Given the description of an element on the screen output the (x, y) to click on. 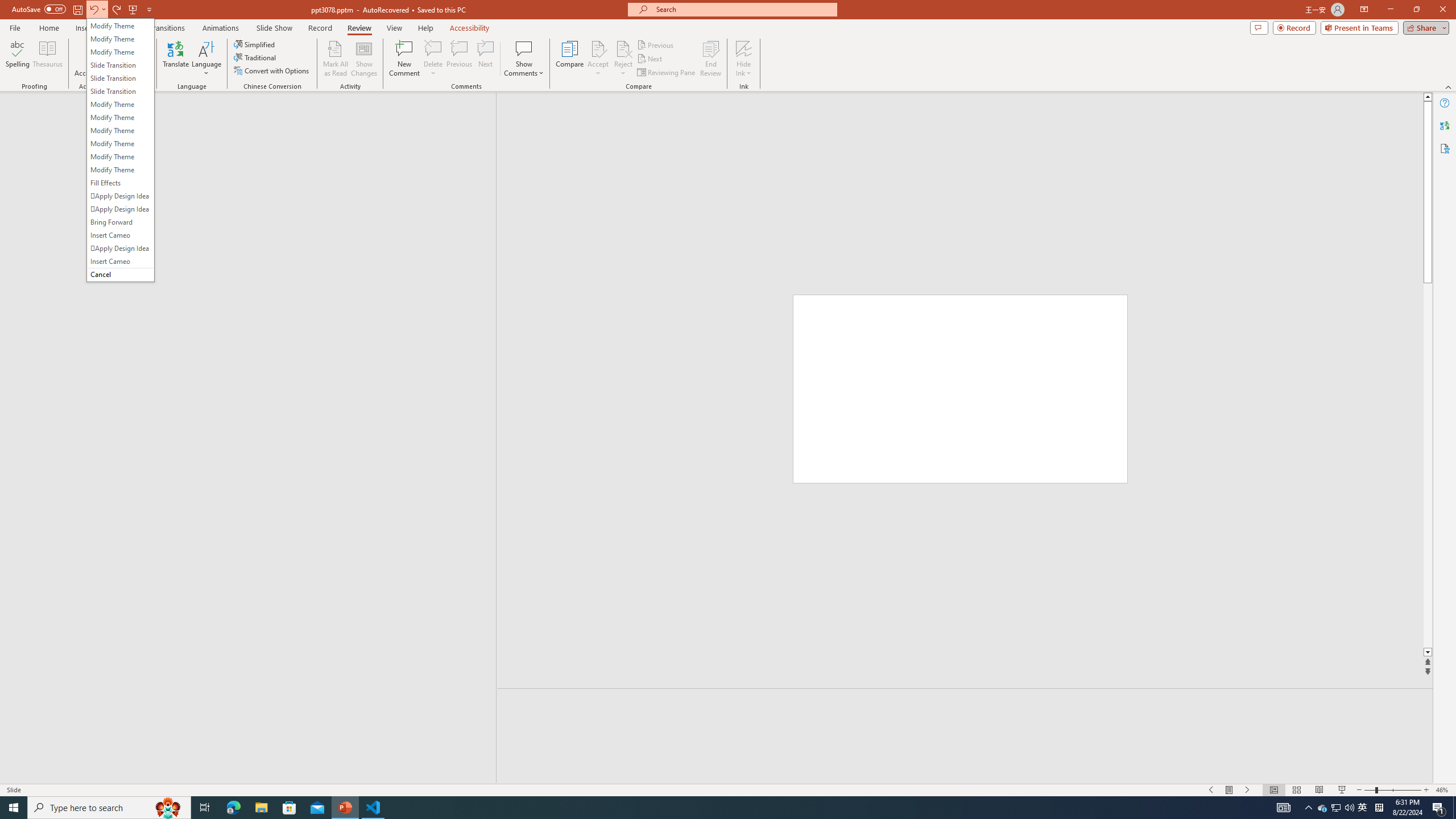
Search highlights icon opens search home window (167, 807)
&Undo (119, 149)
Delete (432, 58)
Next (649, 58)
Translator (1444, 125)
Type here to search (108, 807)
